Given the description of an element on the screen output the (x, y) to click on. 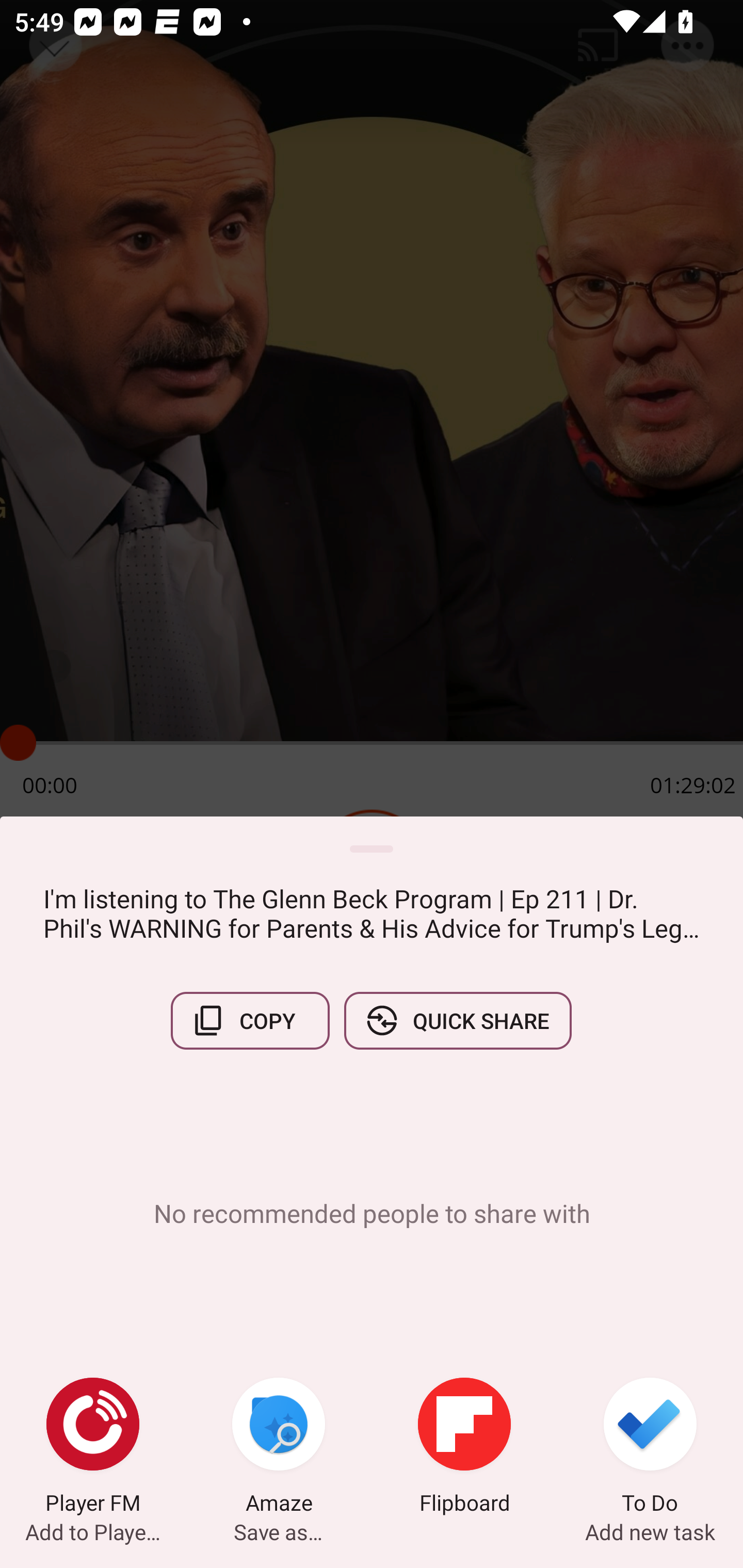
COPY (249, 1020)
QUICK SHARE (457, 1020)
Player FM Add to Player FM (92, 1448)
Amaze Save as… (278, 1448)
Flipboard (464, 1448)
To Do Add new task (650, 1448)
